Given the description of an element on the screen output the (x, y) to click on. 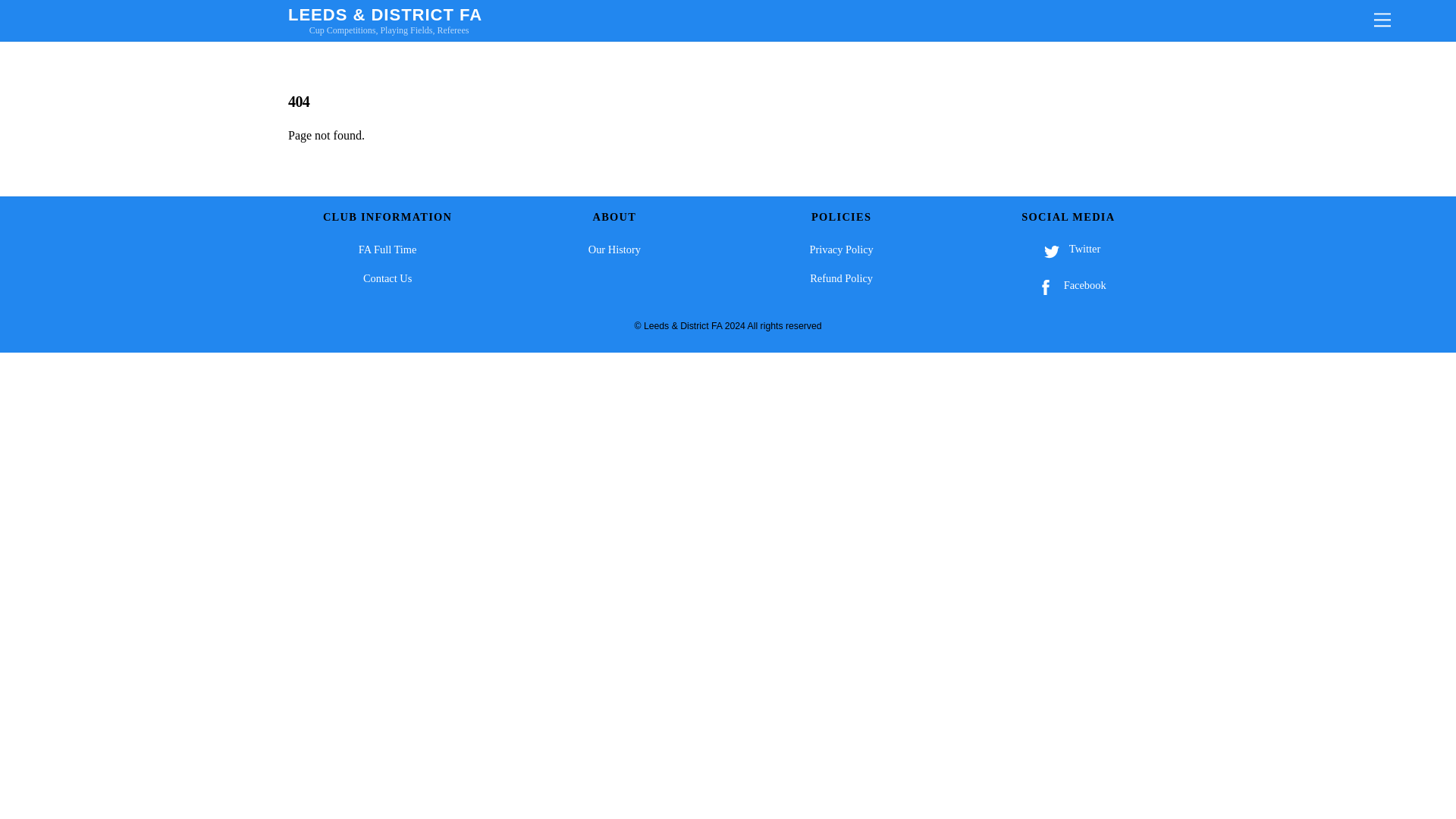
Menu (1382, 19)
Contact Us (387, 277)
FA Full Time (387, 249)
Twitter (1068, 248)
Refund Policy (840, 277)
Our History (614, 249)
Facebook (1068, 285)
Privacy Policy (840, 249)
